Given the description of an element on the screen output the (x, y) to click on. 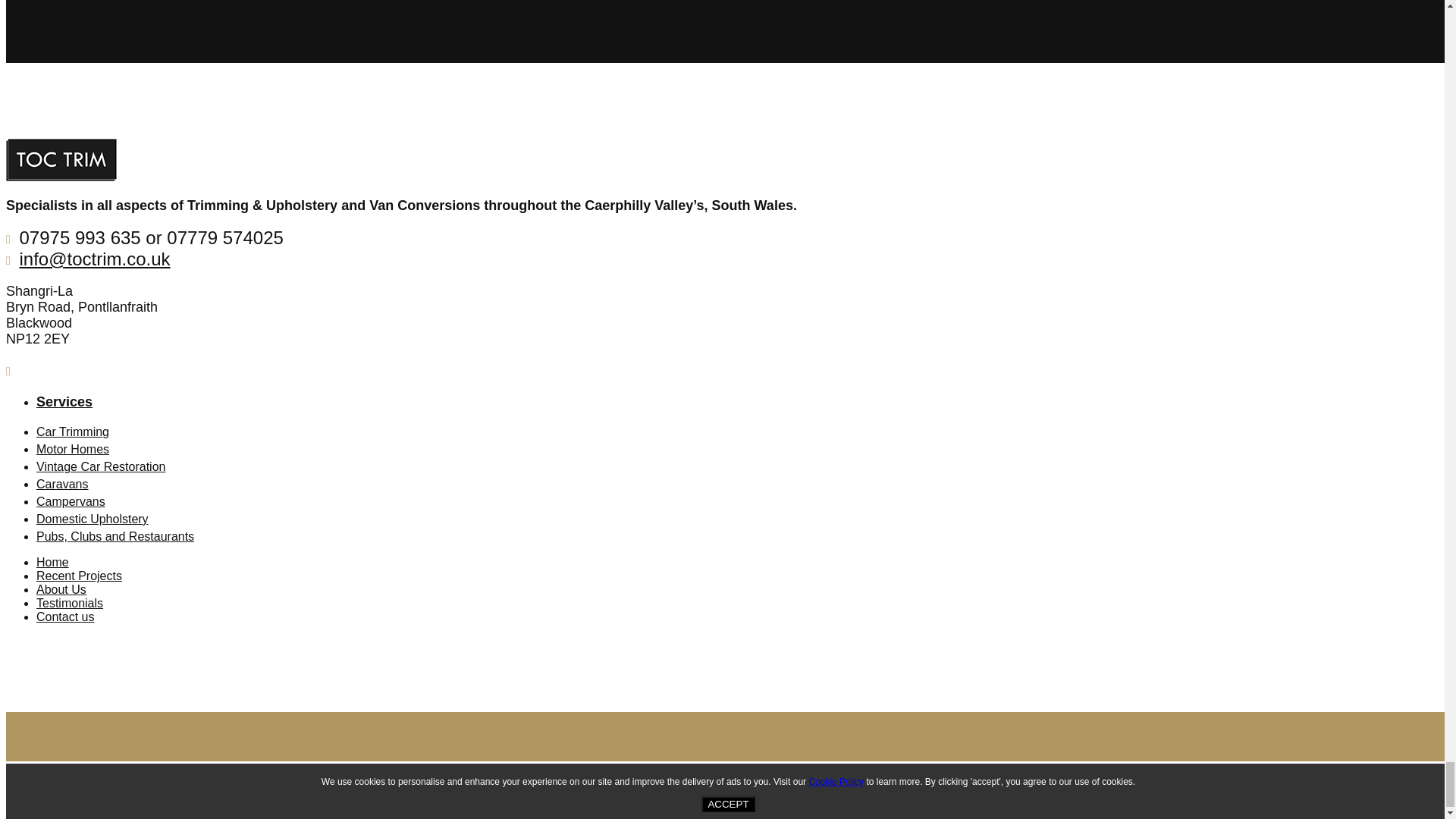
ACCEPT (727, 804)
